Given the description of an element on the screen output the (x, y) to click on. 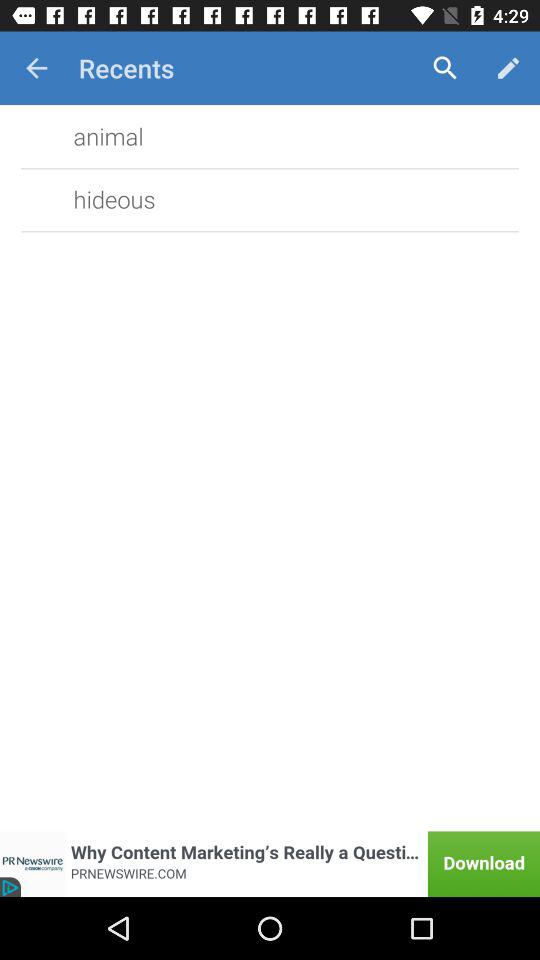
select the app next to the recents item (36, 68)
